Given the description of an element on the screen output the (x, y) to click on. 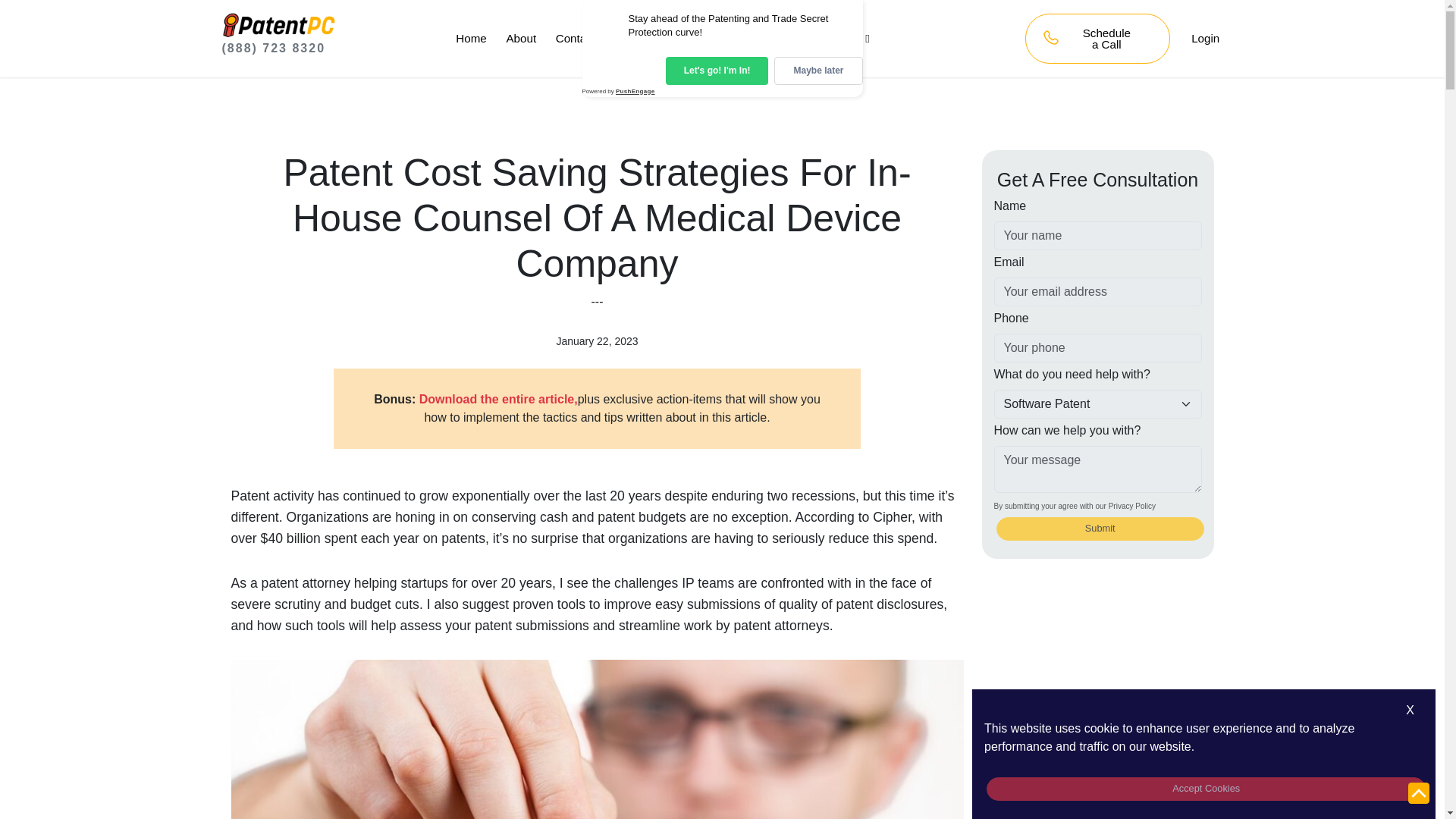
Patenting Tools (699, 38)
Contact (575, 38)
Blog (626, 38)
Home (470, 38)
About (521, 38)
Patenting Research (815, 38)
